Given the description of an element on the screen output the (x, y) to click on. 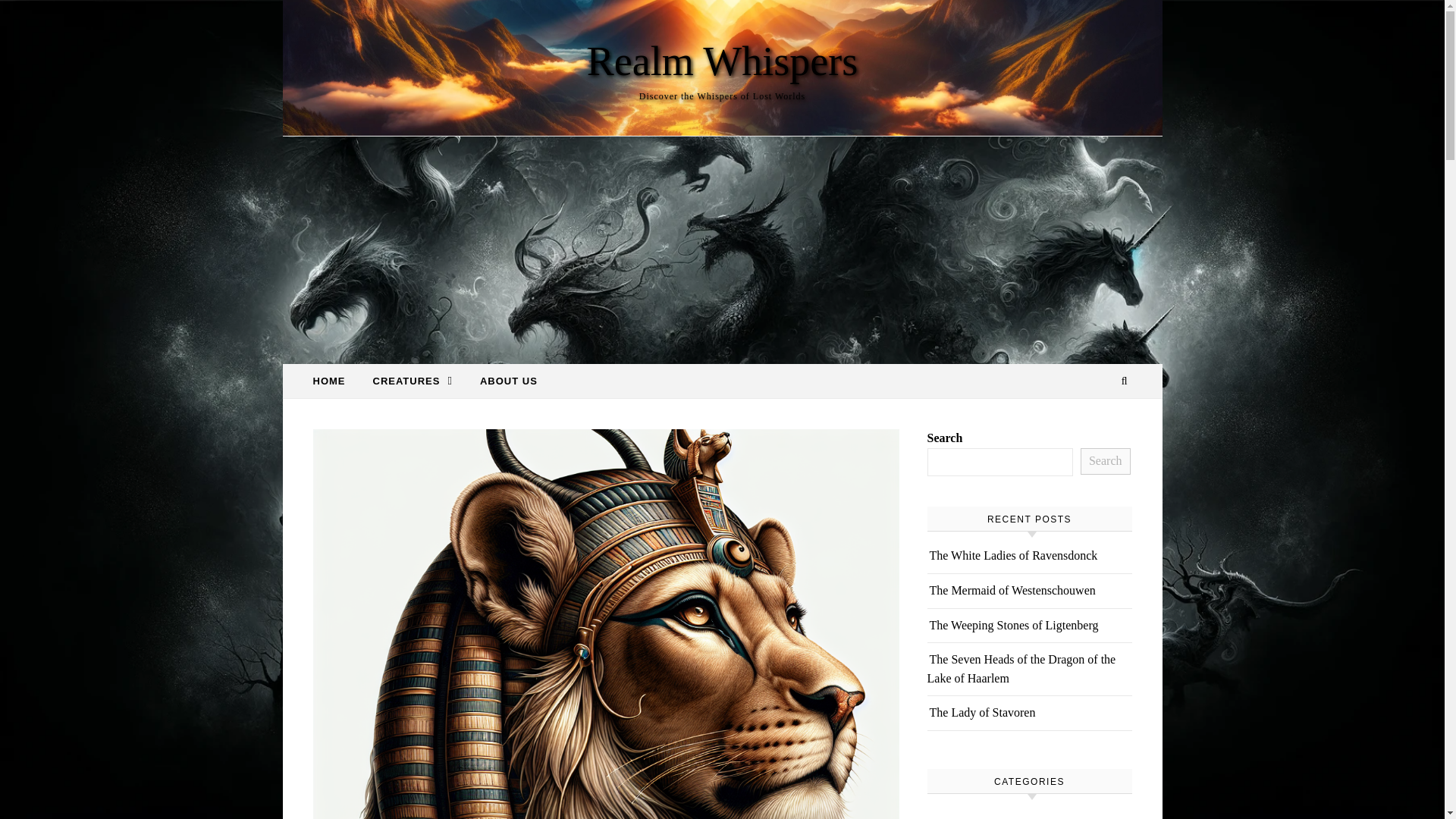
HOME (334, 381)
CREATURES (412, 380)
ABOUT US (502, 381)
Realm Whispers (721, 61)
